Given the description of an element on the screen output the (x, y) to click on. 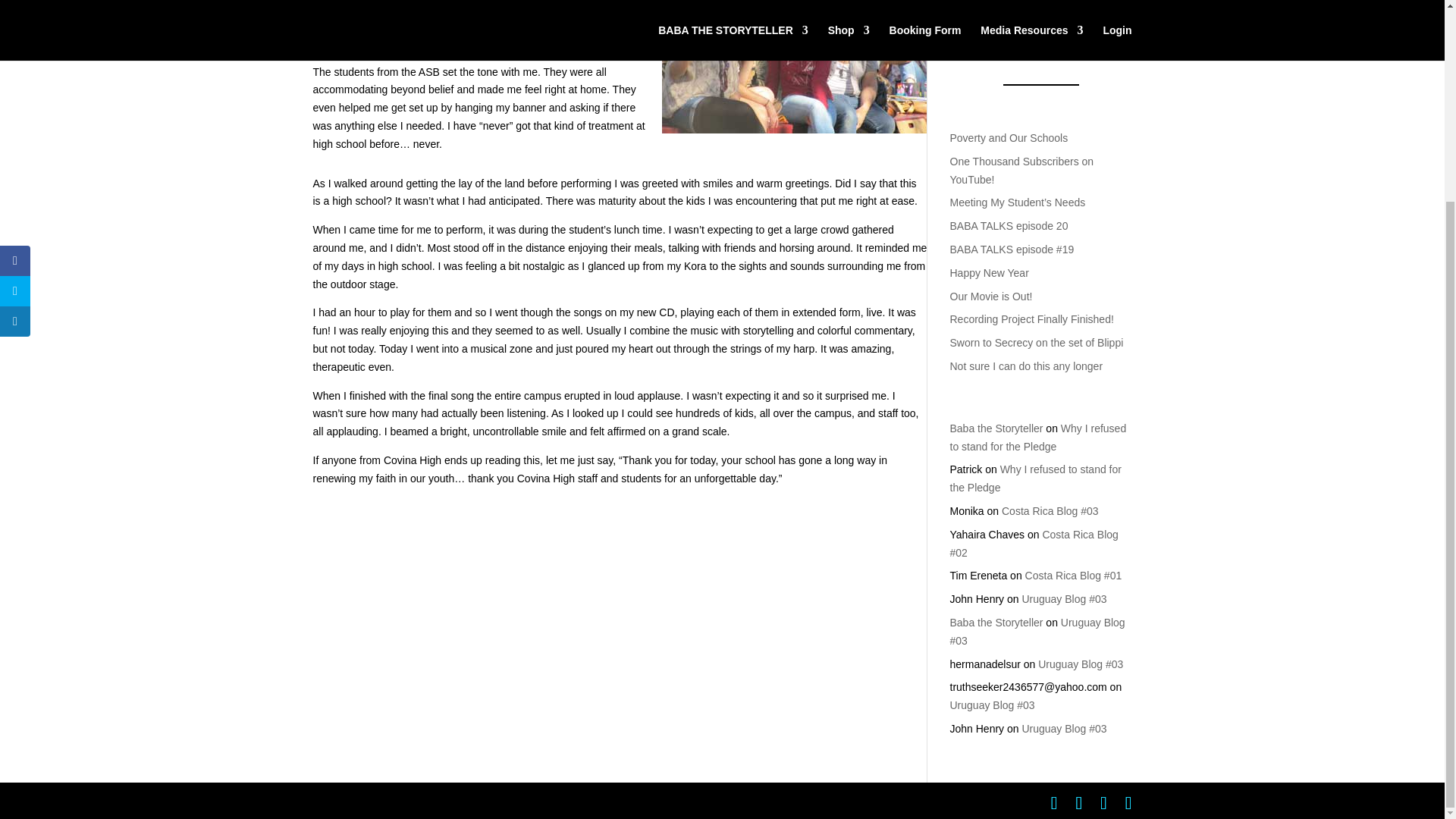
Our Movie is Out! (990, 296)
covina-high - BABA THE STORYTELLER (793, 66)
Poverty and Our Schools (1008, 137)
Recording Project Finally Finished! (1031, 318)
One Thousand Subscribers on YouTube! (1021, 170)
Happy New Year (988, 272)
BABA TALKS episode 20 (1008, 225)
